Given the description of an element on the screen output the (x, y) to click on. 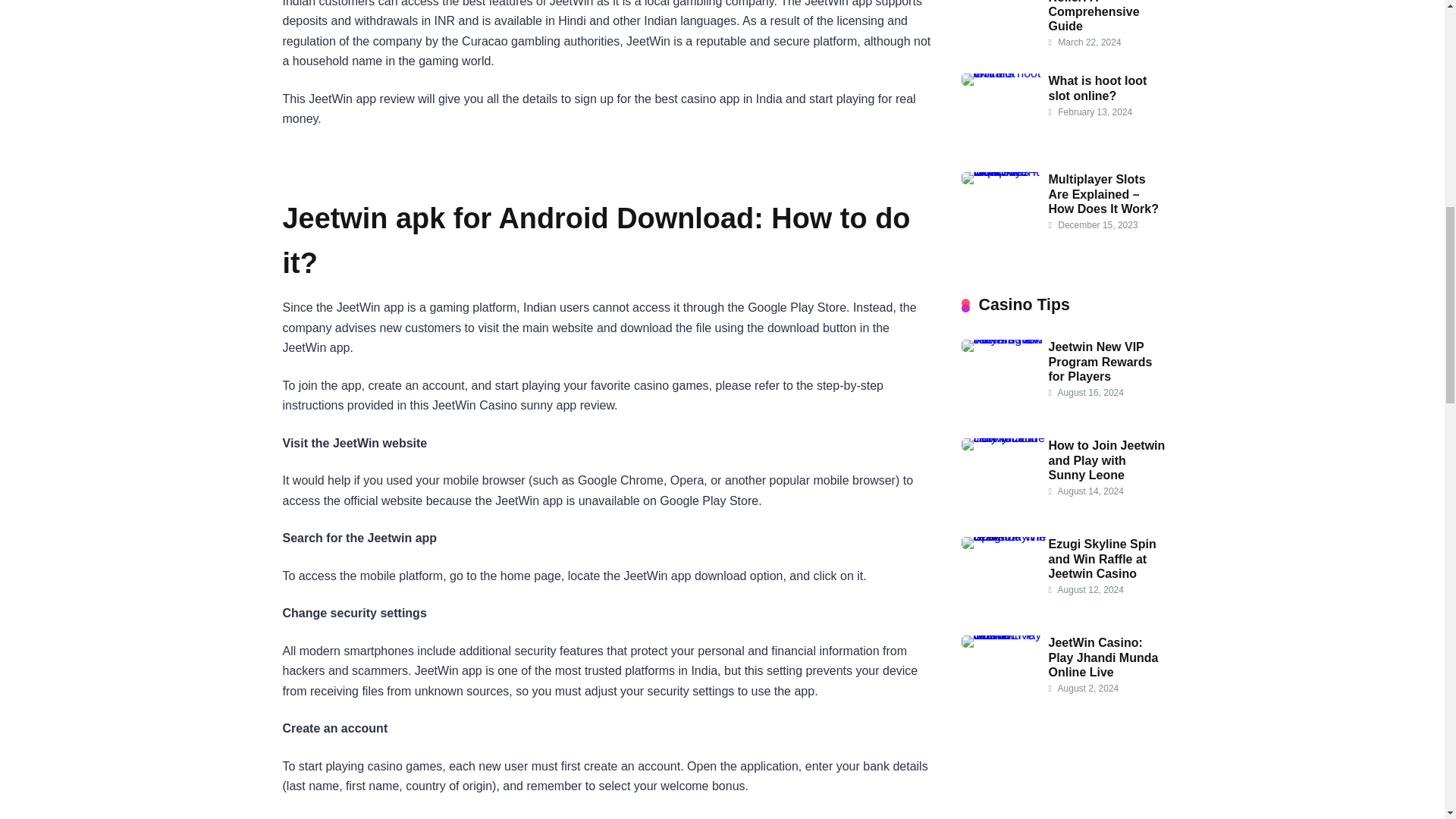
What is hoot loot slot online? (1097, 87)
Online Casino High Roller: A Comprehensive Guide (1104, 16)
How to Join Jeetwin and Play with Sunny Leone (1004, 437)
How to Join Jeetwin and Play with Sunny Leone (1106, 459)
Jeetwin New VIP Program Rewards for Players (1099, 361)
What is hoot loot slot online? (1004, 72)
Jeetwin New VIP Program Rewards for Players (1004, 338)
